Given the description of an element on the screen output the (x, y) to click on. 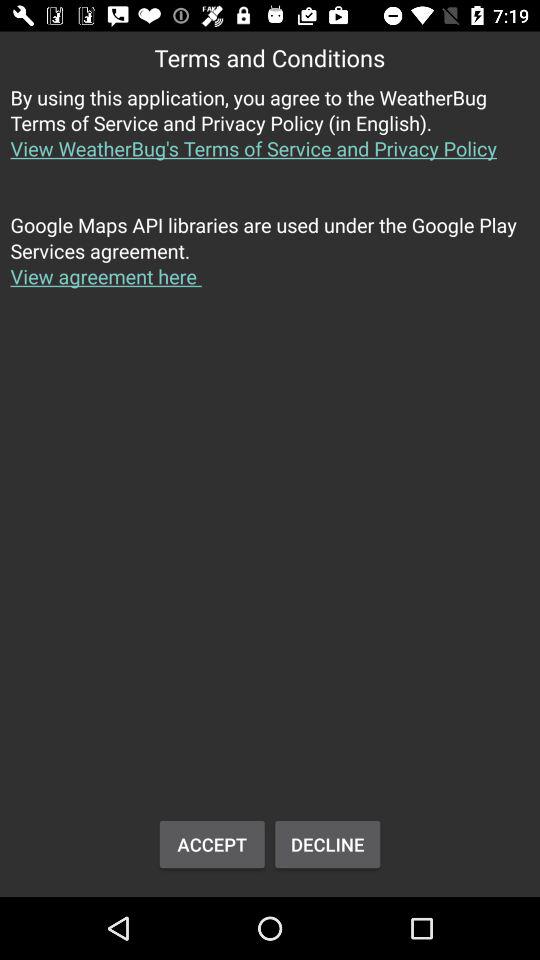
turn off icon above google maps api item (269, 134)
